Given the description of an element on the screen output the (x, y) to click on. 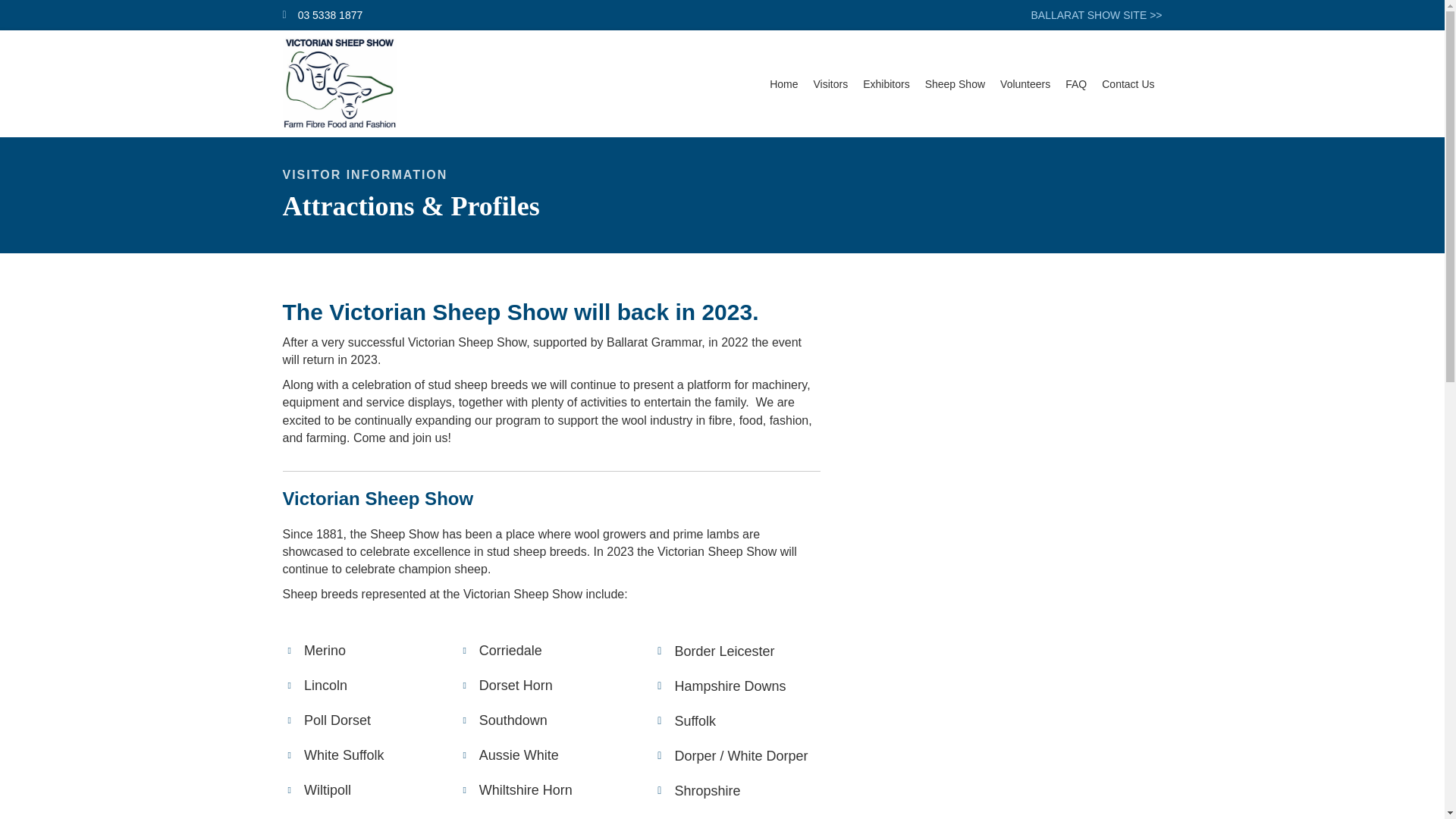
Home (783, 83)
Sheep Show (954, 83)
Volunteers (1025, 83)
Visitors (831, 83)
Exhibitors (886, 83)
03 5338 1877 (330, 14)
Contact Us (1127, 83)
FAQ (1076, 83)
